Given the description of an element on the screen output the (x, y) to click on. 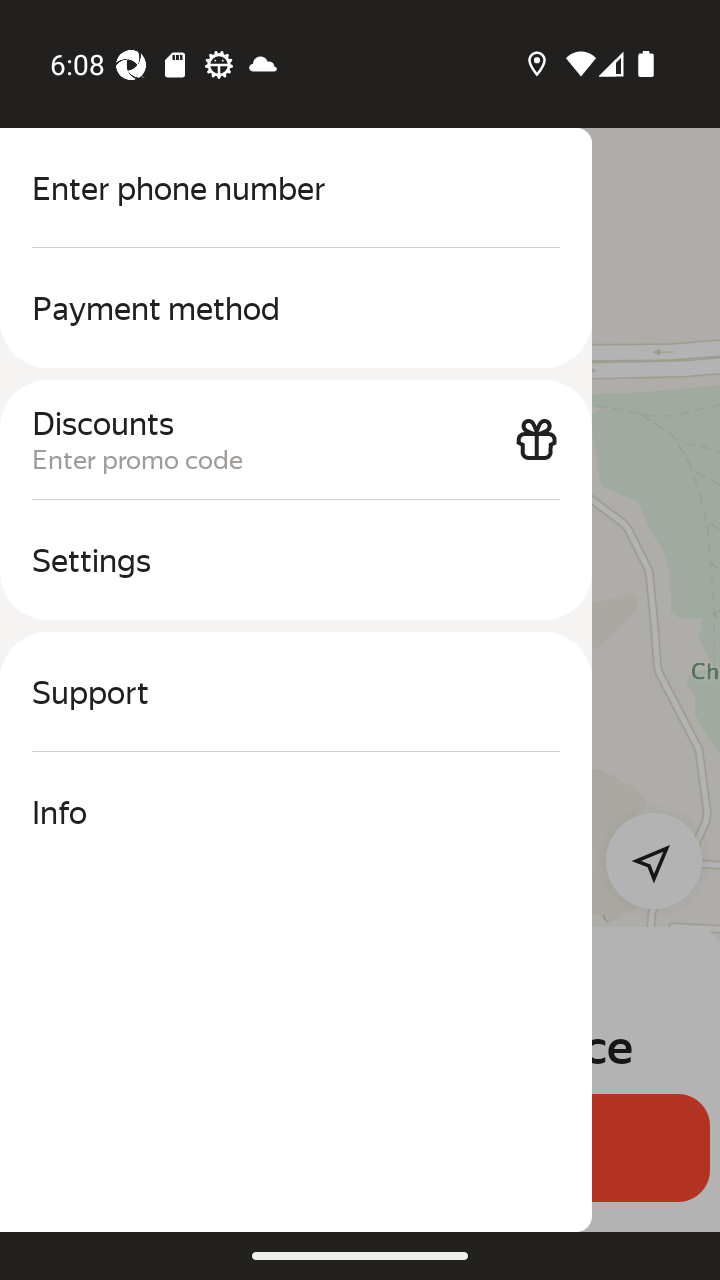
Enter phone number (295, 188)
Payment method (295, 308)
Settings (295, 559)
Support (295, 692)
Info (295, 811)
